Given the description of an element on the screen output the (x, y) to click on. 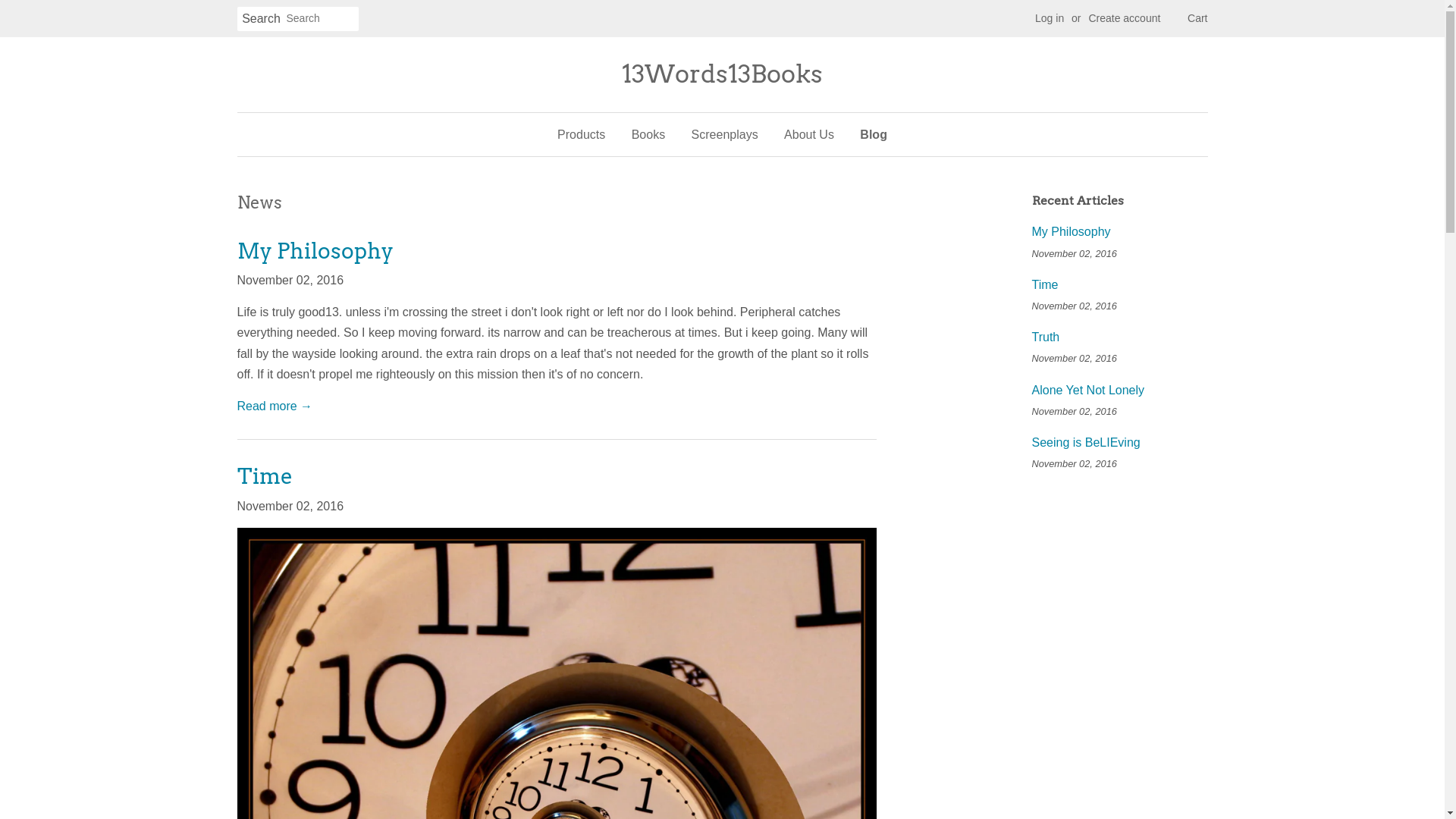
Seeing is BeLIEving Element type: text (1085, 442)
Create account Element type: text (1124, 18)
My Philosophy Element type: text (1070, 231)
Truth Element type: text (1045, 336)
13Words13Books Element type: text (721, 73)
My Philosophy Element type: text (314, 250)
Time Element type: text (1044, 284)
Alone Yet Not Lonely Element type: text (1087, 389)
Books Element type: text (648, 134)
Log in Element type: text (1049, 18)
Products Element type: text (586, 134)
Screenplays Element type: text (724, 134)
About Us Element type: text (808, 134)
Cart Element type: text (1197, 18)
Blog Element type: text (867, 134)
Search Element type: text (260, 18)
Time Element type: text (263, 476)
